Given the description of an element on the screen output the (x, y) to click on. 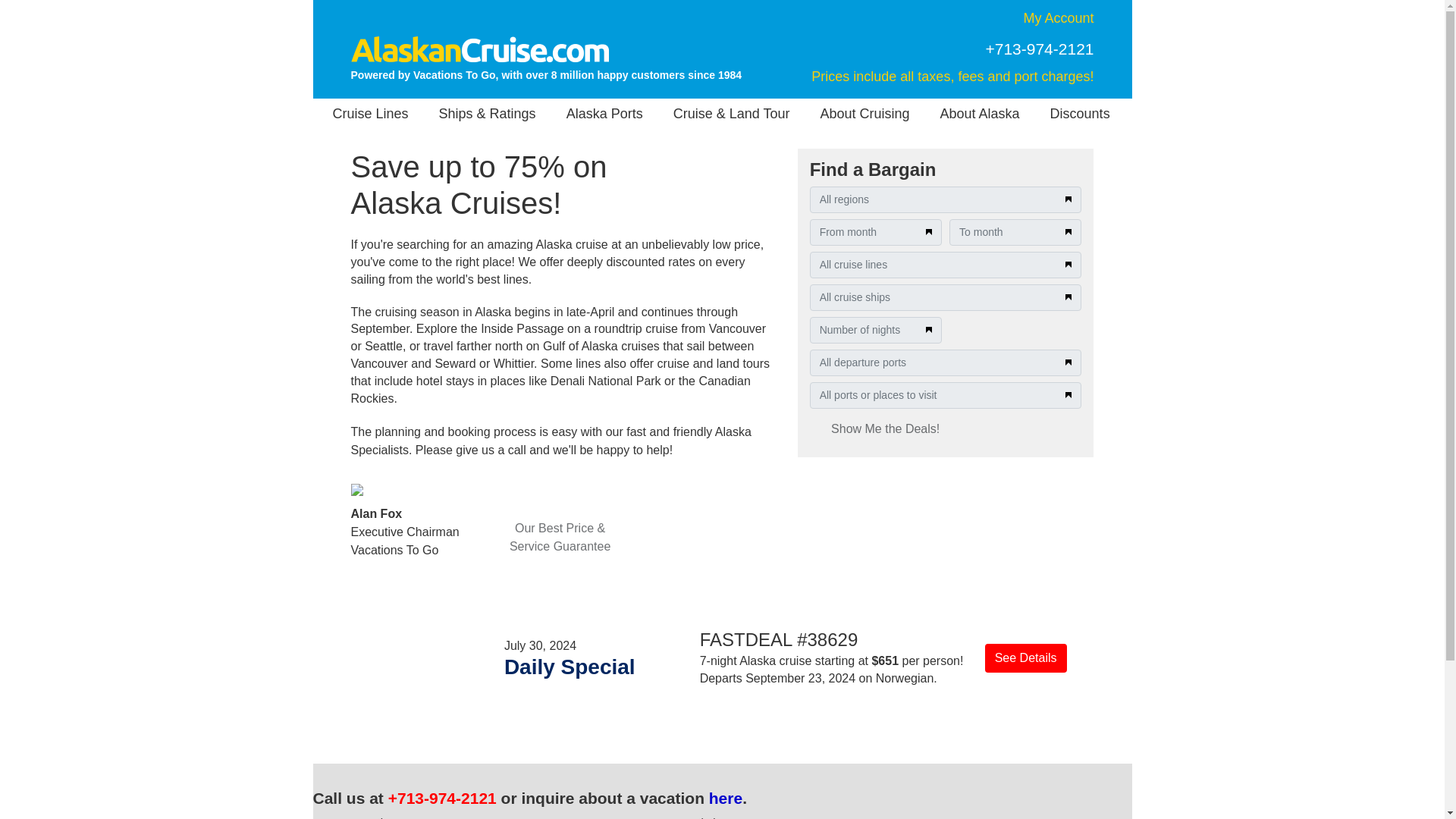
My Account (1058, 17)
Cruise Lines (370, 113)
Alaska Ports (603, 113)
Show Me the Deals! (884, 428)
About Cruising (864, 113)
